Given the description of an element on the screen output the (x, y) to click on. 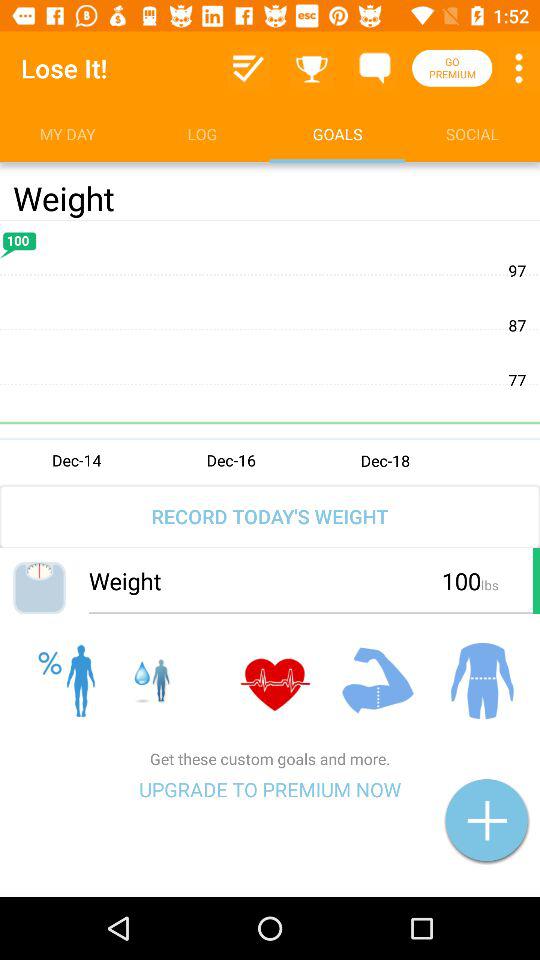
choose item above the social item (518, 68)
